Given the description of an element on the screen output the (x, y) to click on. 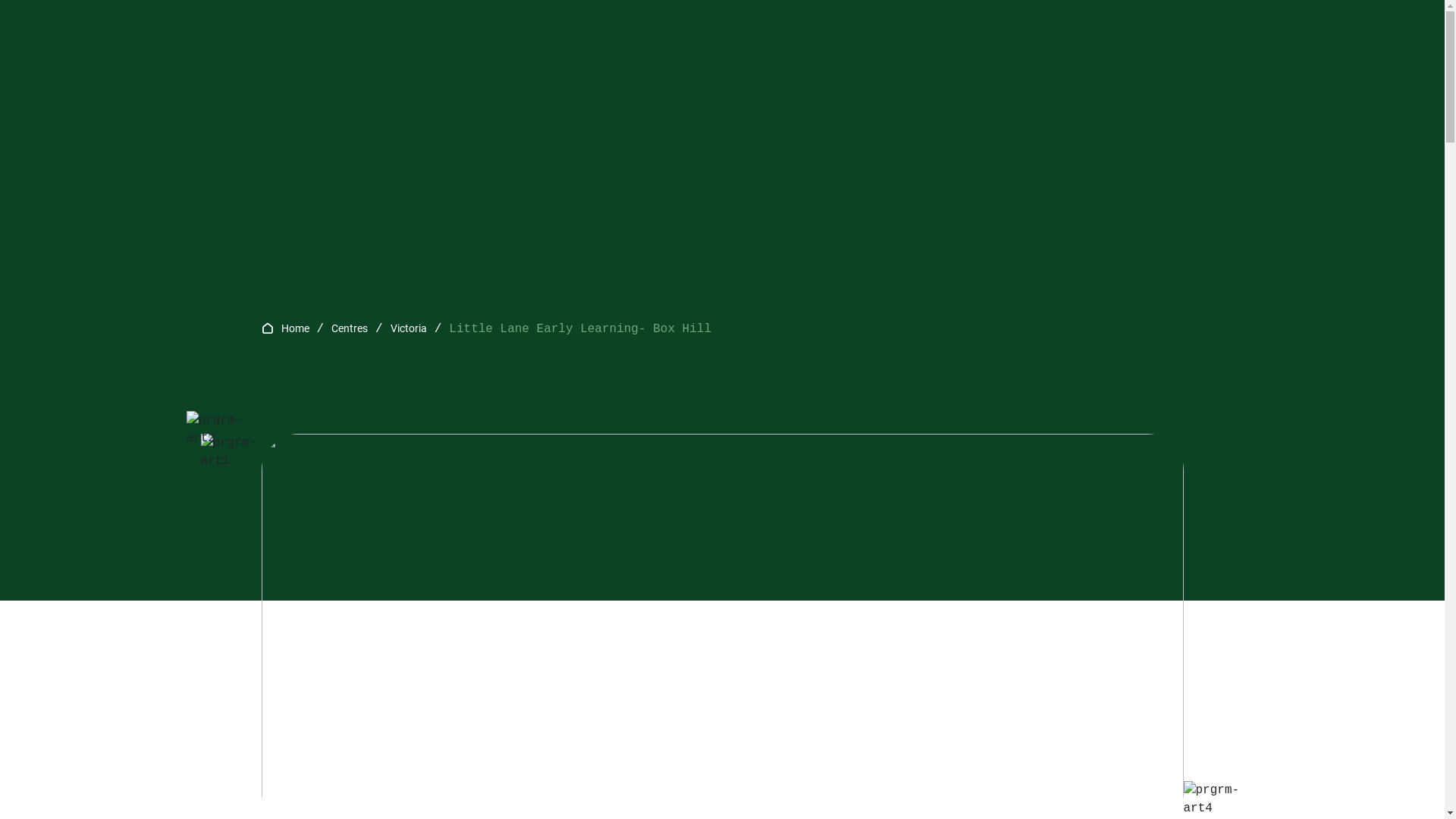
Centres Element type: text (349, 328)
Home Element type: text (294, 328)
Victoria Element type: text (408, 328)
